Given the description of an element on the screen output the (x, y) to click on. 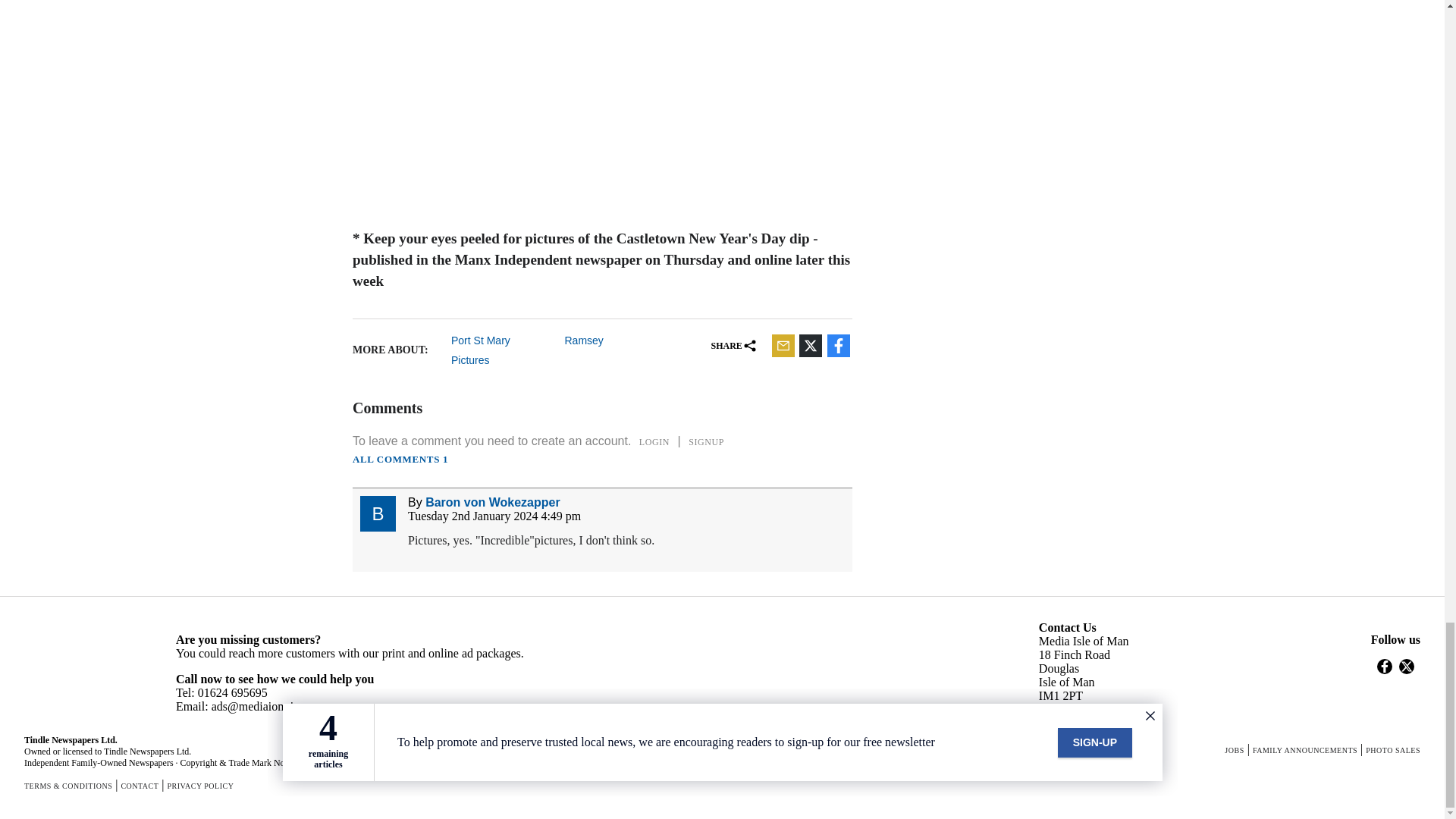
Port St Mary (502, 340)
Pictures (502, 359)
Ramsey (615, 340)
